Given the description of an element on the screen output the (x, y) to click on. 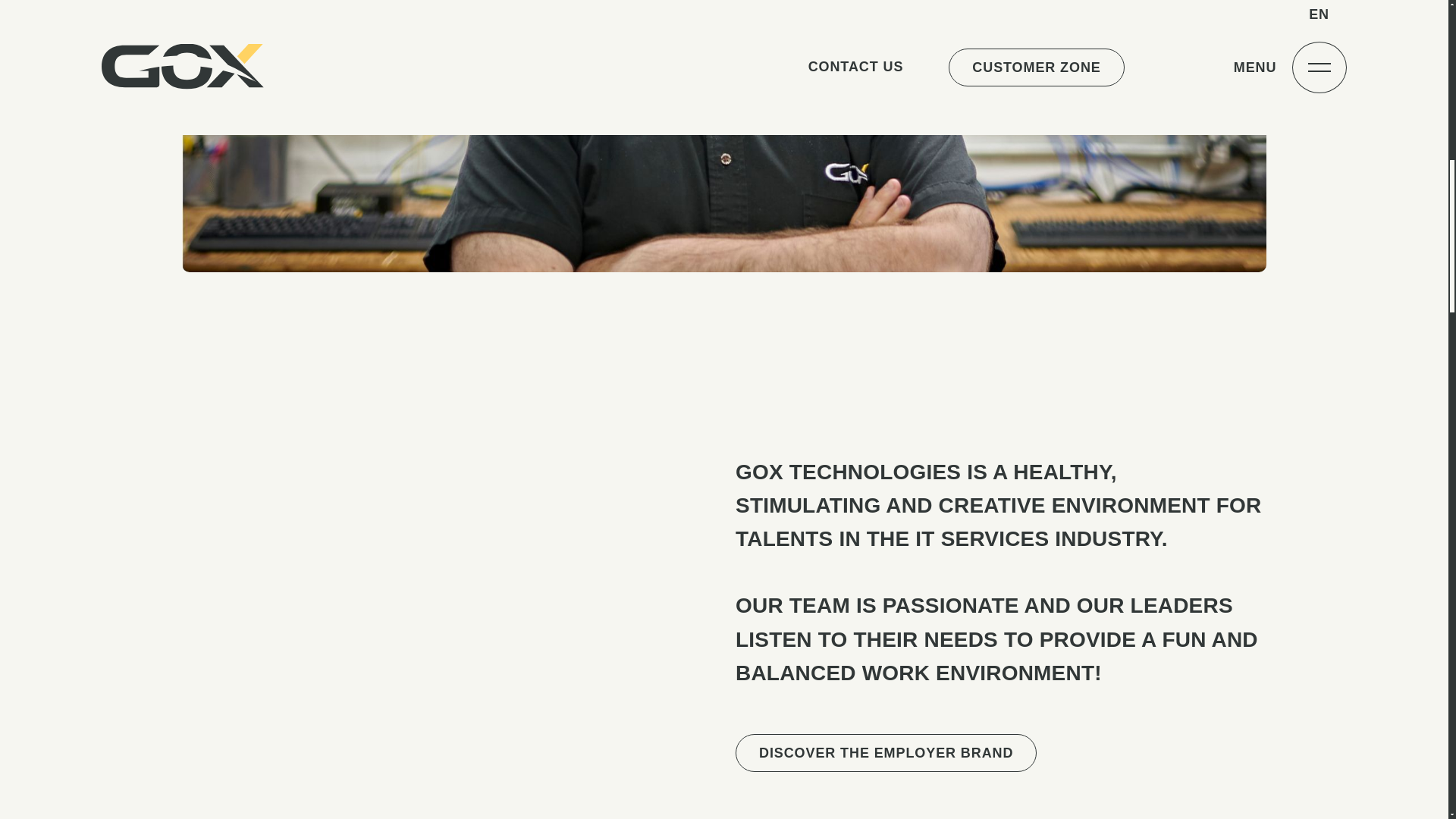
DISCOVER THE EMPLOYER BRAND (885, 752)
discover the employer brand (885, 752)
